Given the description of an element on the screen output the (x, y) to click on. 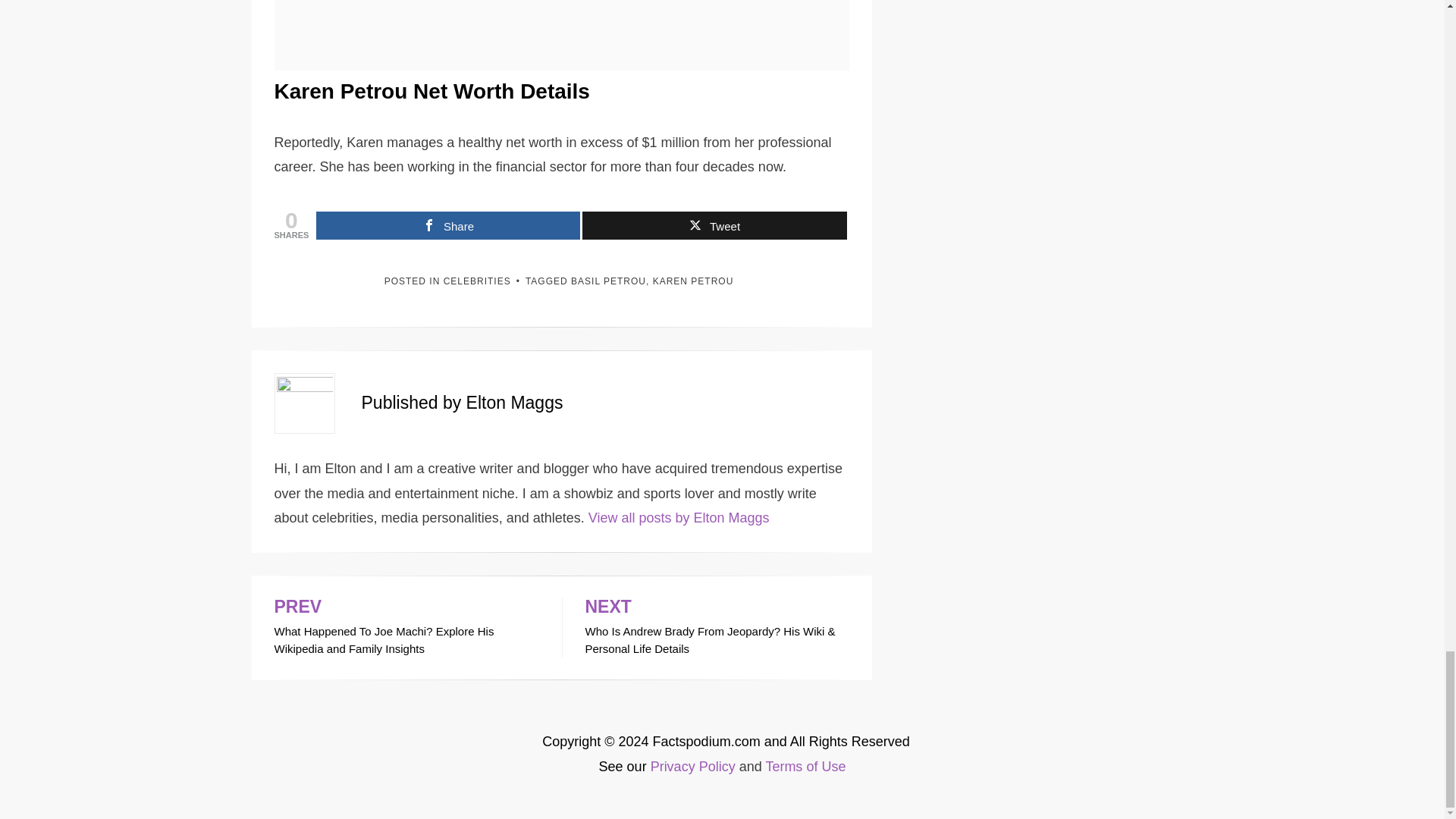
Tweet (713, 225)
KAREN PETROU (692, 281)
BASIL PETROU (608, 281)
Share (447, 225)
CELEBRITIES (477, 281)
View all posts by Elton Maggs (679, 517)
